Given the description of an element on the screen output the (x, y) to click on. 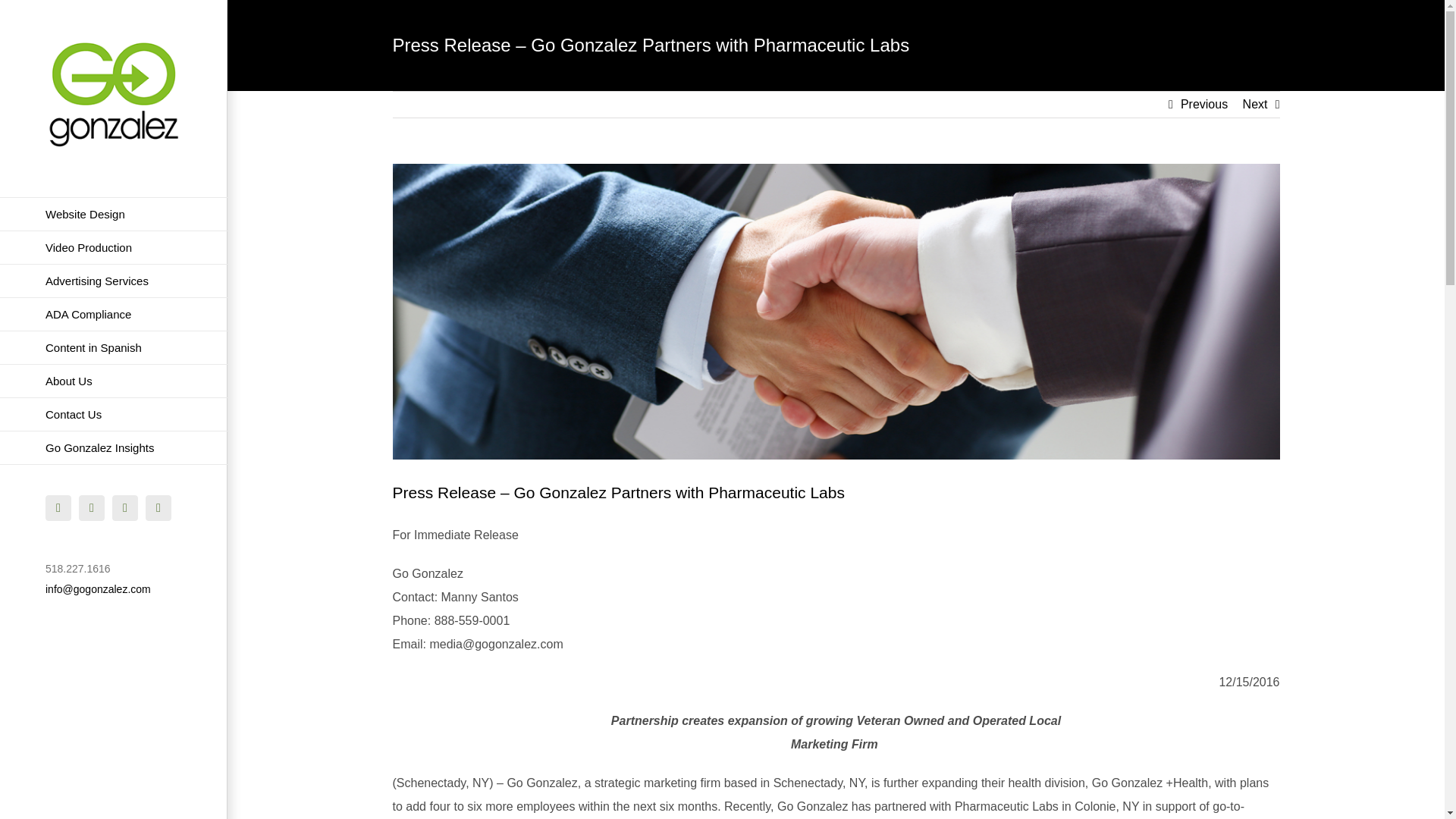
Website Design (113, 213)
Video Production (113, 247)
Instagram (125, 507)
About Us (113, 381)
Facebook (58, 507)
Go Gonzalez Insights (113, 448)
LinkedIn (158, 507)
Twitter (91, 507)
Content in Spanish (113, 347)
Advertising Services (113, 281)
Contact Us (113, 414)
About Us (113, 381)
Previous (1203, 104)
ADA Compliance (113, 314)
